Given the description of an element on the screen output the (x, y) to click on. 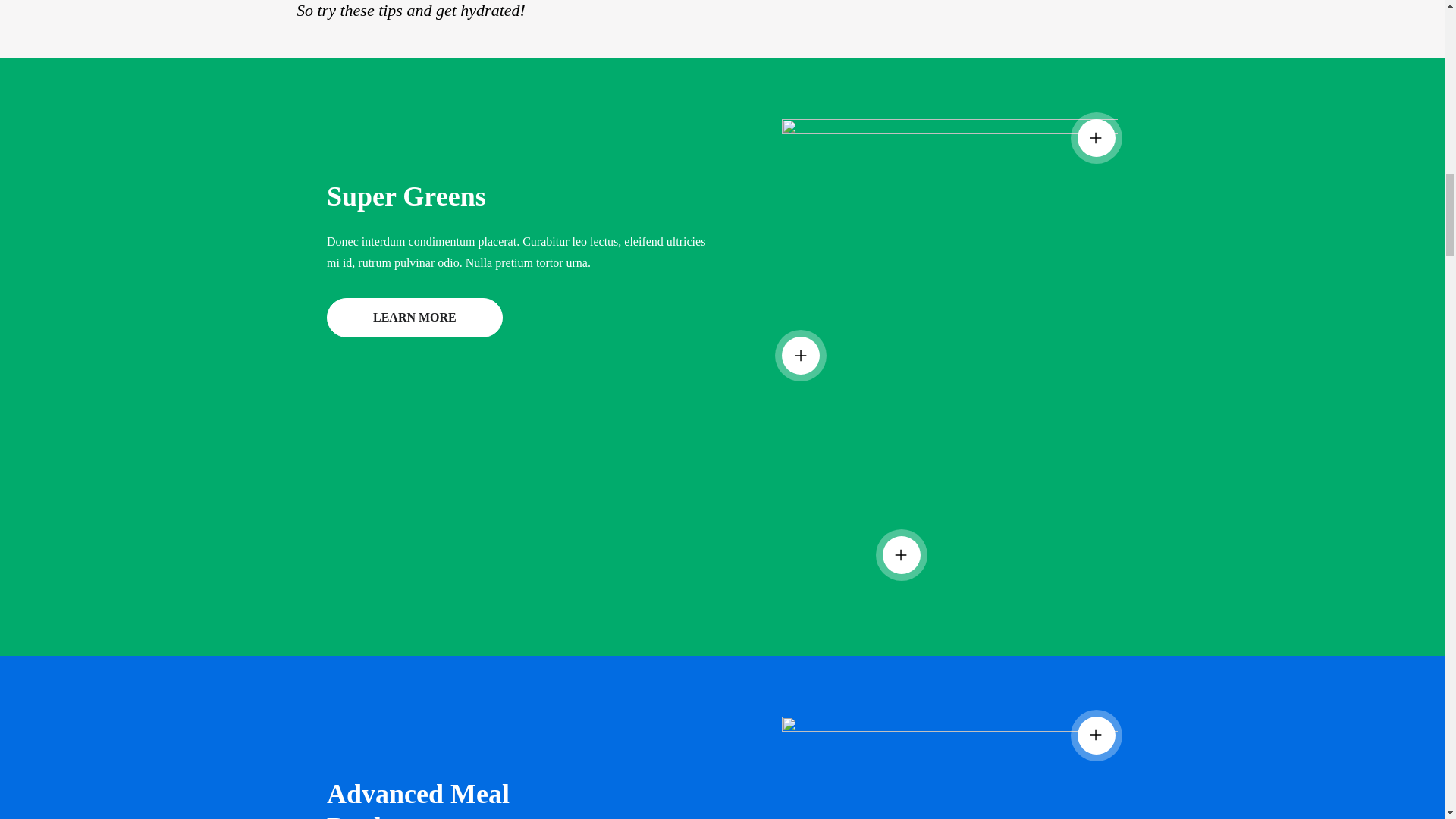
LEARN MORE (414, 317)
